Given the description of an element on the screen output the (x, y) to click on. 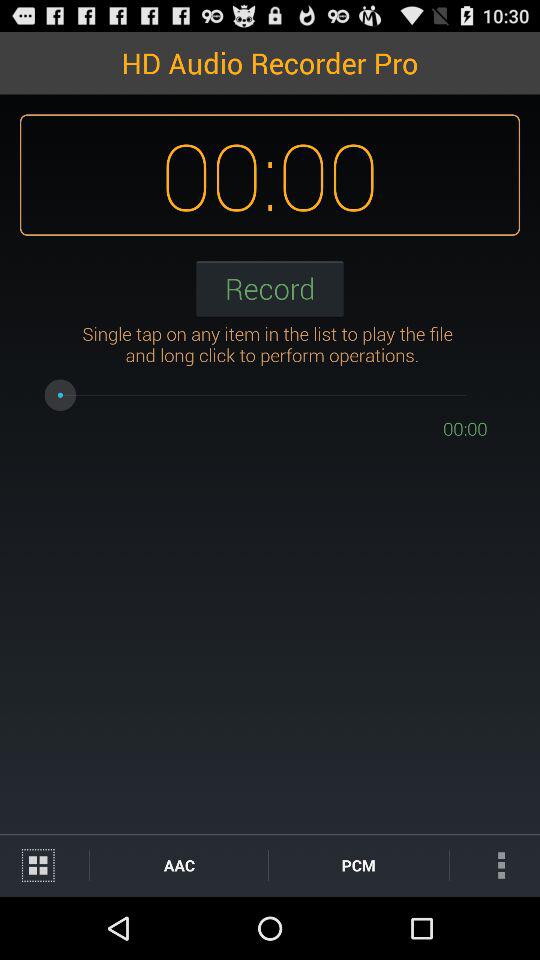
choose icon below the 00:00 item (358, 864)
